Given the description of an element on the screen output the (x, y) to click on. 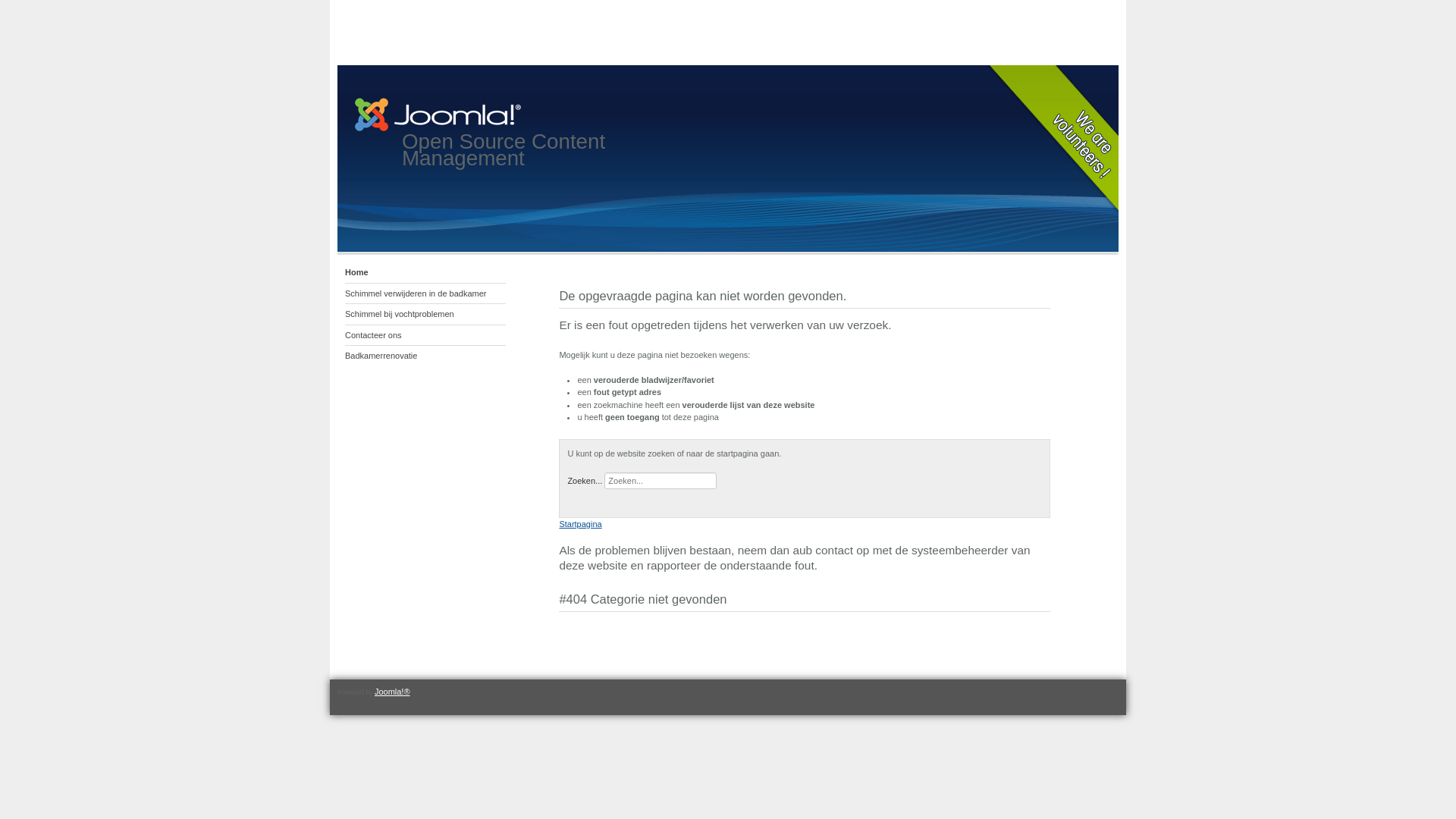
Contacteer ons Element type: text (425, 334)
Schimmel bij vochtproblemen Element type: text (425, 314)
Home Element type: text (425, 272)
Startpagina Element type: text (579, 523)
Badkamerrenovatie Element type: text (425, 355)
Schimmel verwijderen in de badkamer Element type: text (425, 293)
